Given the description of an element on the screen output the (x, y) to click on. 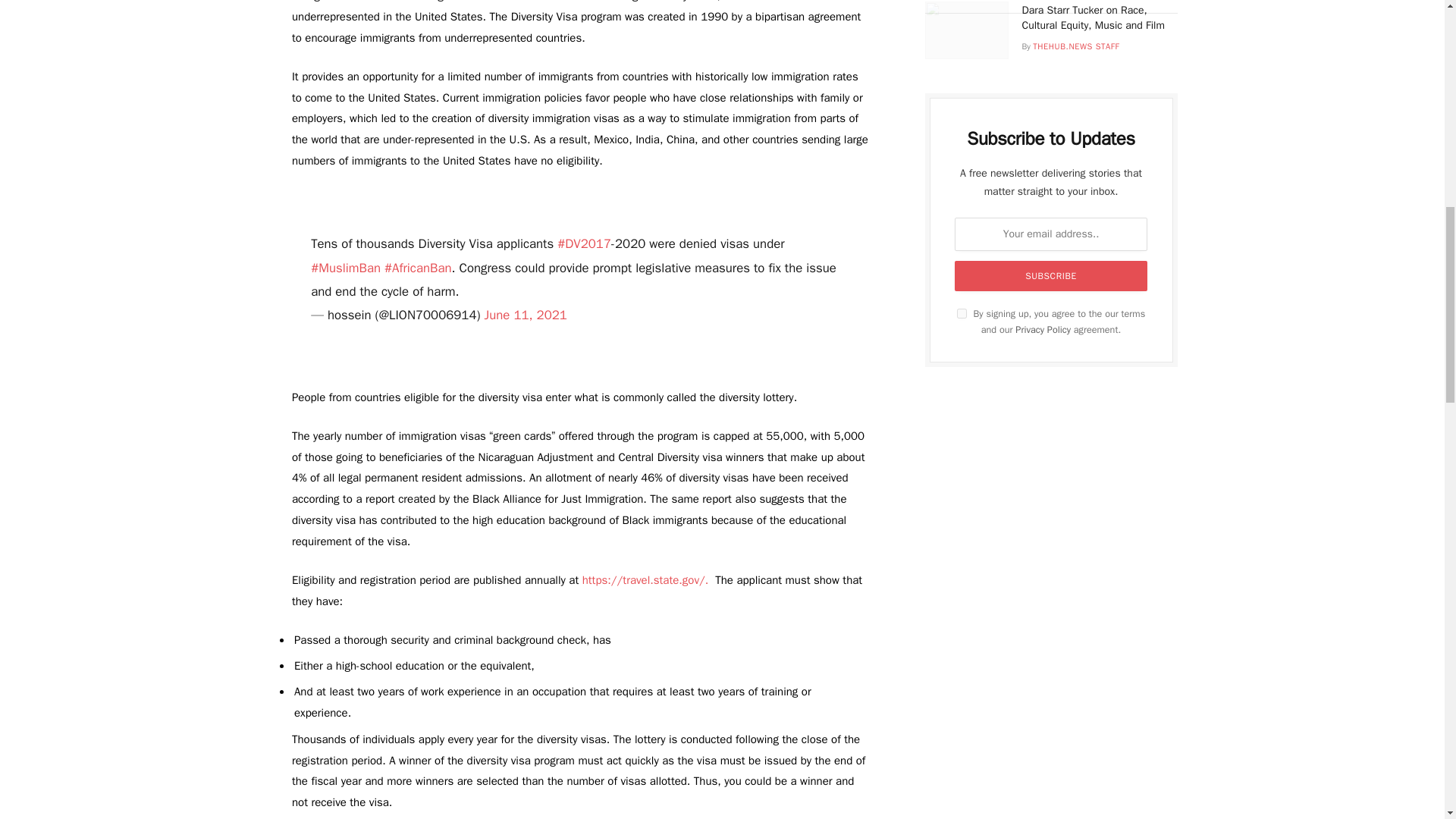
Subscribe (1051, 276)
on (961, 313)
